Given the description of an element on the screen output the (x, y) to click on. 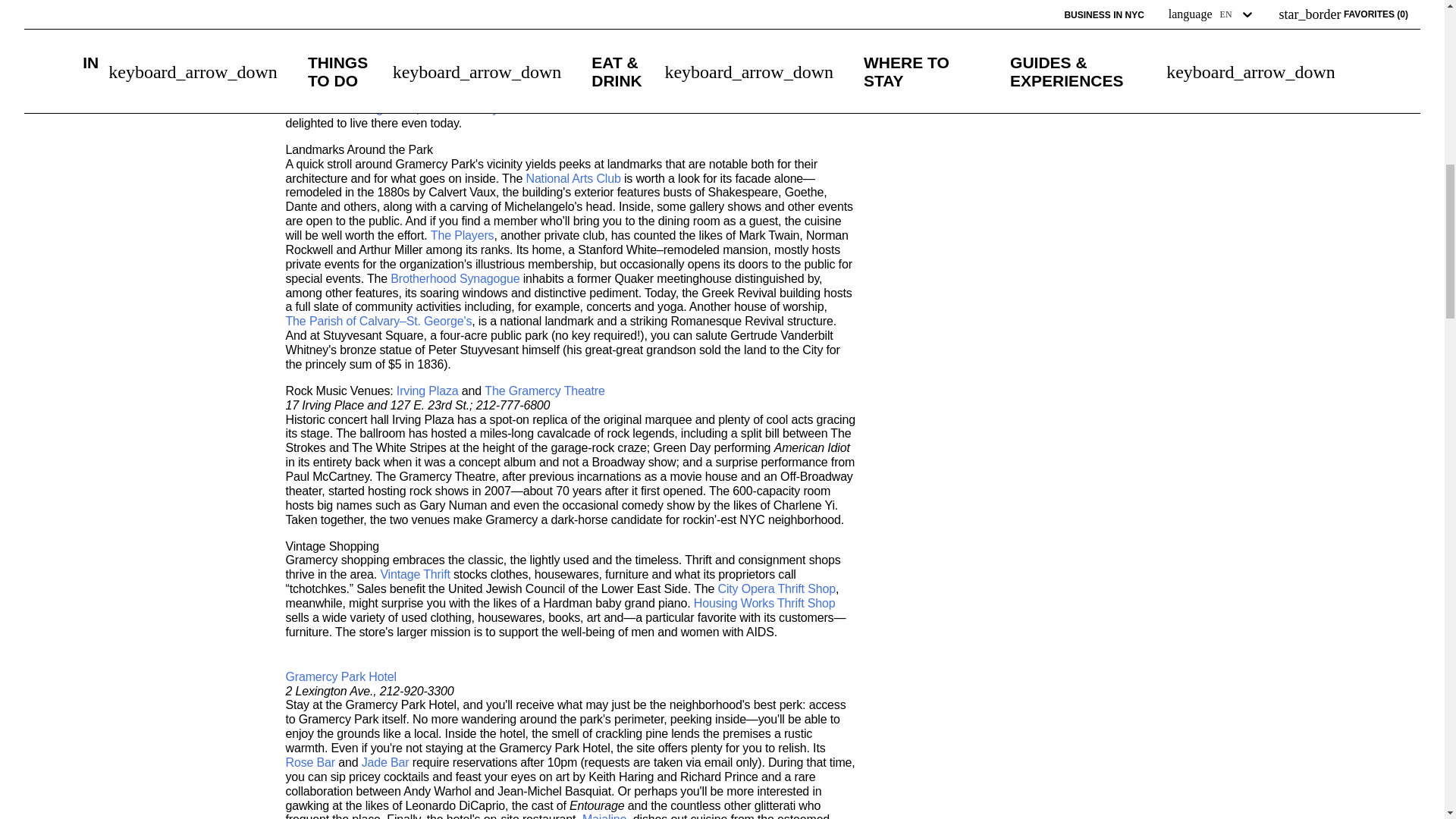
Irving Plaza (384, 109)
The Gramercy Theatre (544, 391)
Jade Bar (385, 762)
Vintage Thrift (414, 575)
Brotherhood Synagogue (454, 278)
The Gramercy Theatre (481, 109)
Friend of a Farmer (671, 94)
Rose Bar (309, 762)
Irving Plaza (427, 391)
Gramercy Park Hotel (340, 677)
Gramercy Park Hotel (785, 52)
The Players (462, 236)
Housing Works Thrift Shop (764, 603)
City Opera Thrift Shop (776, 589)
National Arts Club (572, 178)
